Given the description of an element on the screen output the (x, y) to click on. 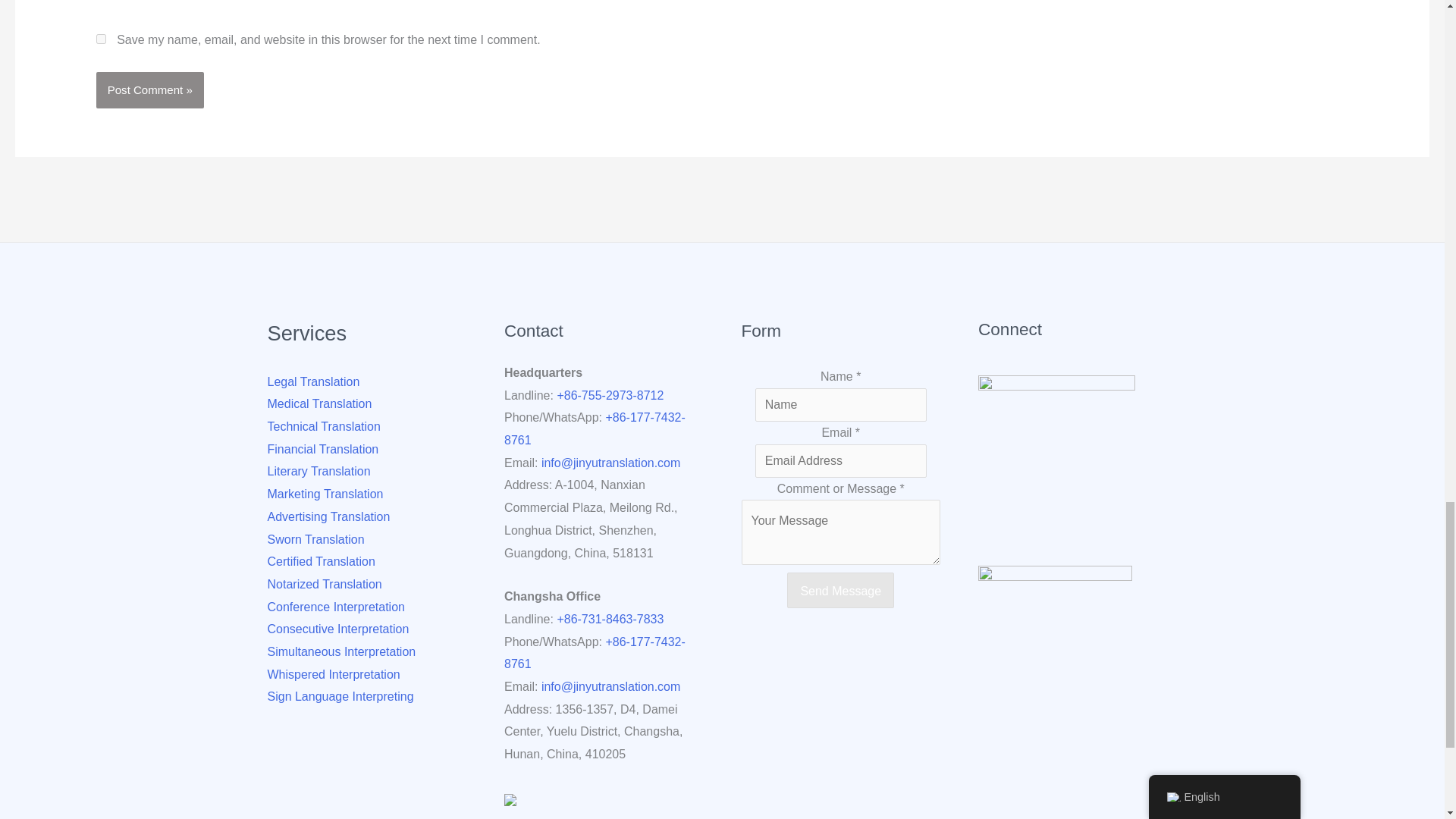
yes (101, 39)
